Given the description of an element on the screen output the (x, y) to click on. 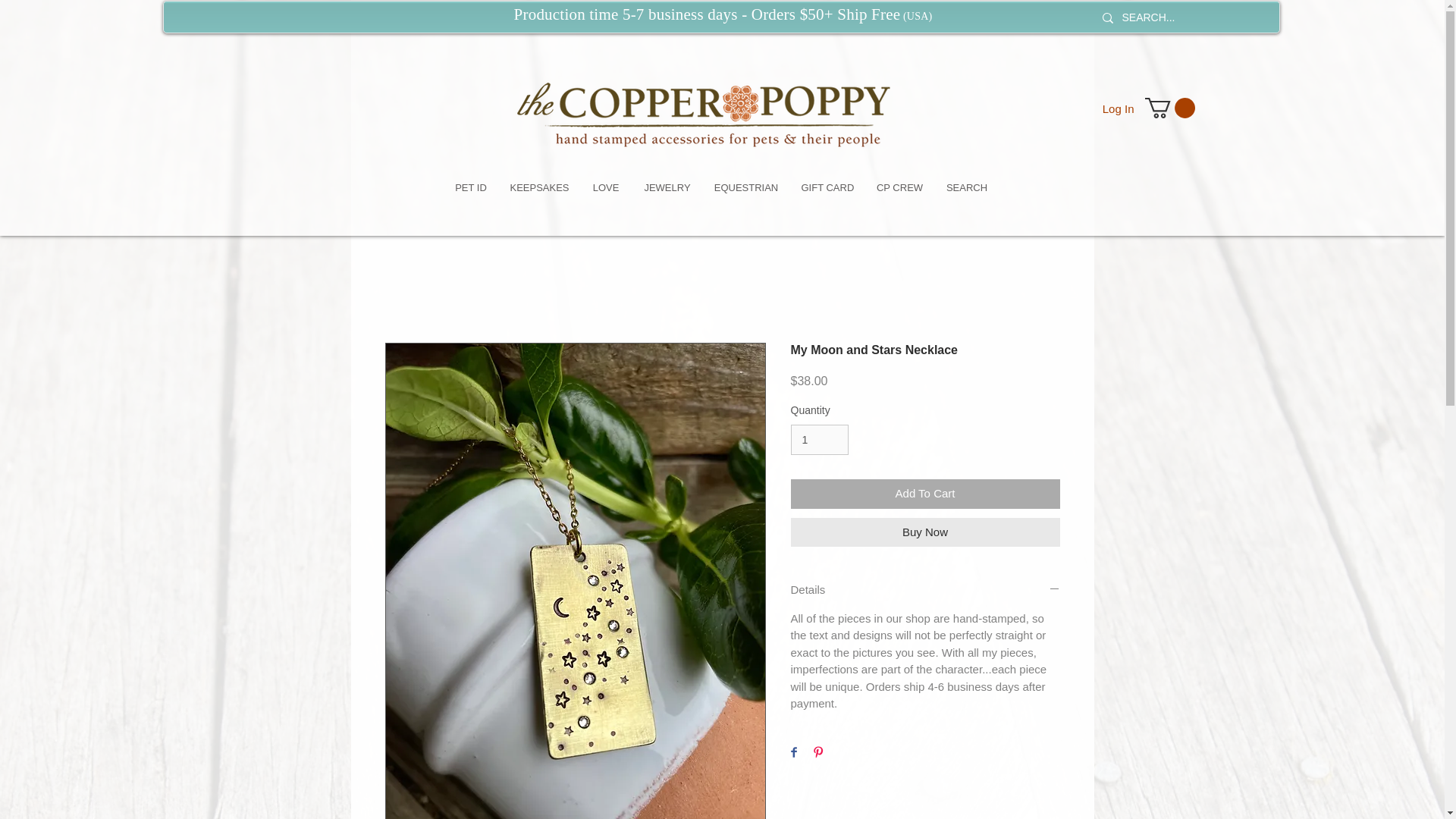
CP CREW (899, 187)
Buy Now (924, 532)
PET ID (469, 187)
Add To Cart (924, 493)
1 (818, 440)
longlogo.png (761, 99)
SEARCH (966, 187)
GIFT CARD (827, 187)
Log In (1118, 107)
LOVE (605, 187)
JEWELRY (667, 187)
KEEPSAKES (539, 187)
EQUESTRIAN (745, 187)
Details (924, 590)
